Given the description of an element on the screen output the (x, y) to click on. 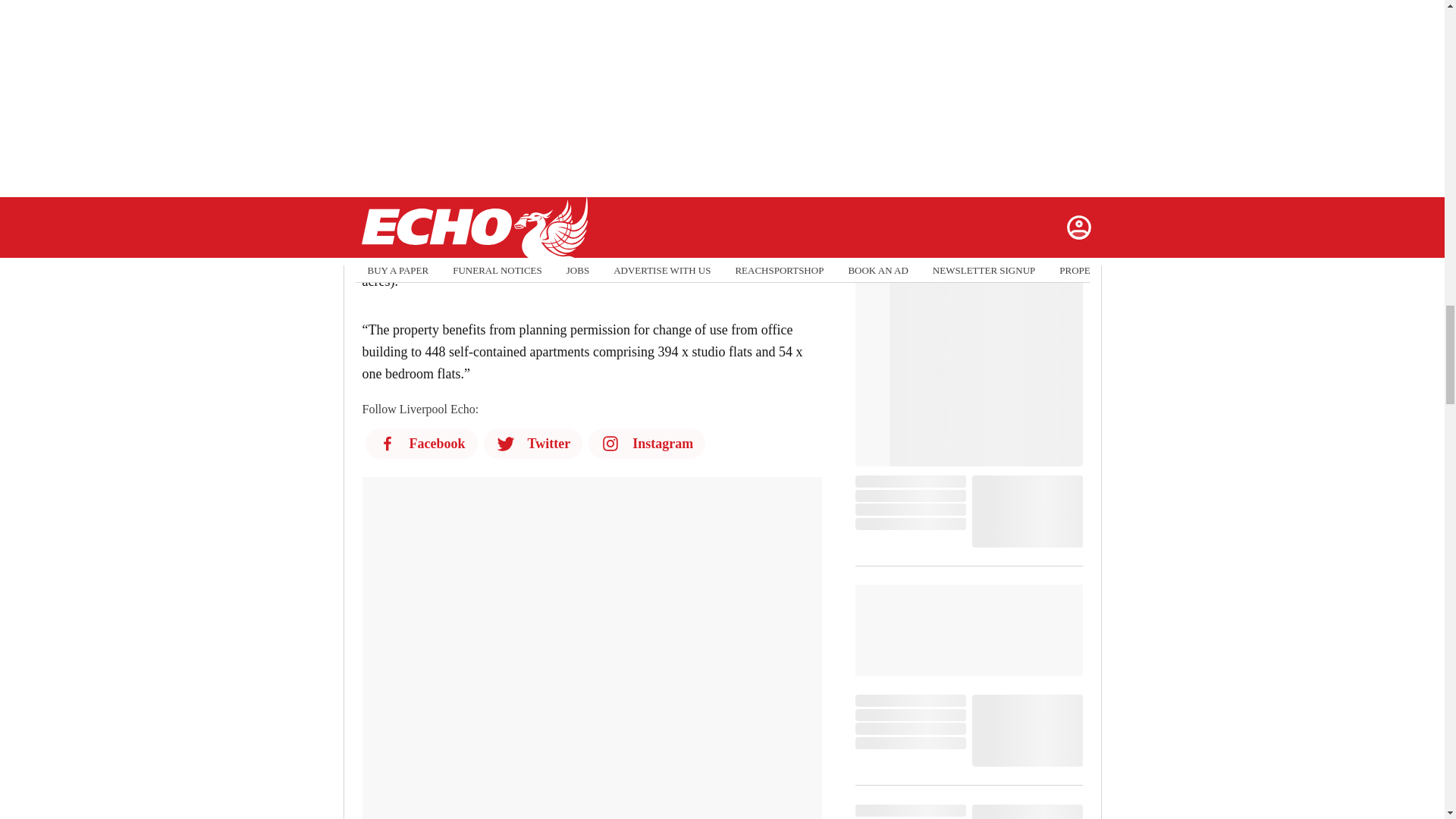
Facebook (421, 443)
Twitter (533, 443)
Instagram (646, 443)
